Given the description of an element on the screen output the (x, y) to click on. 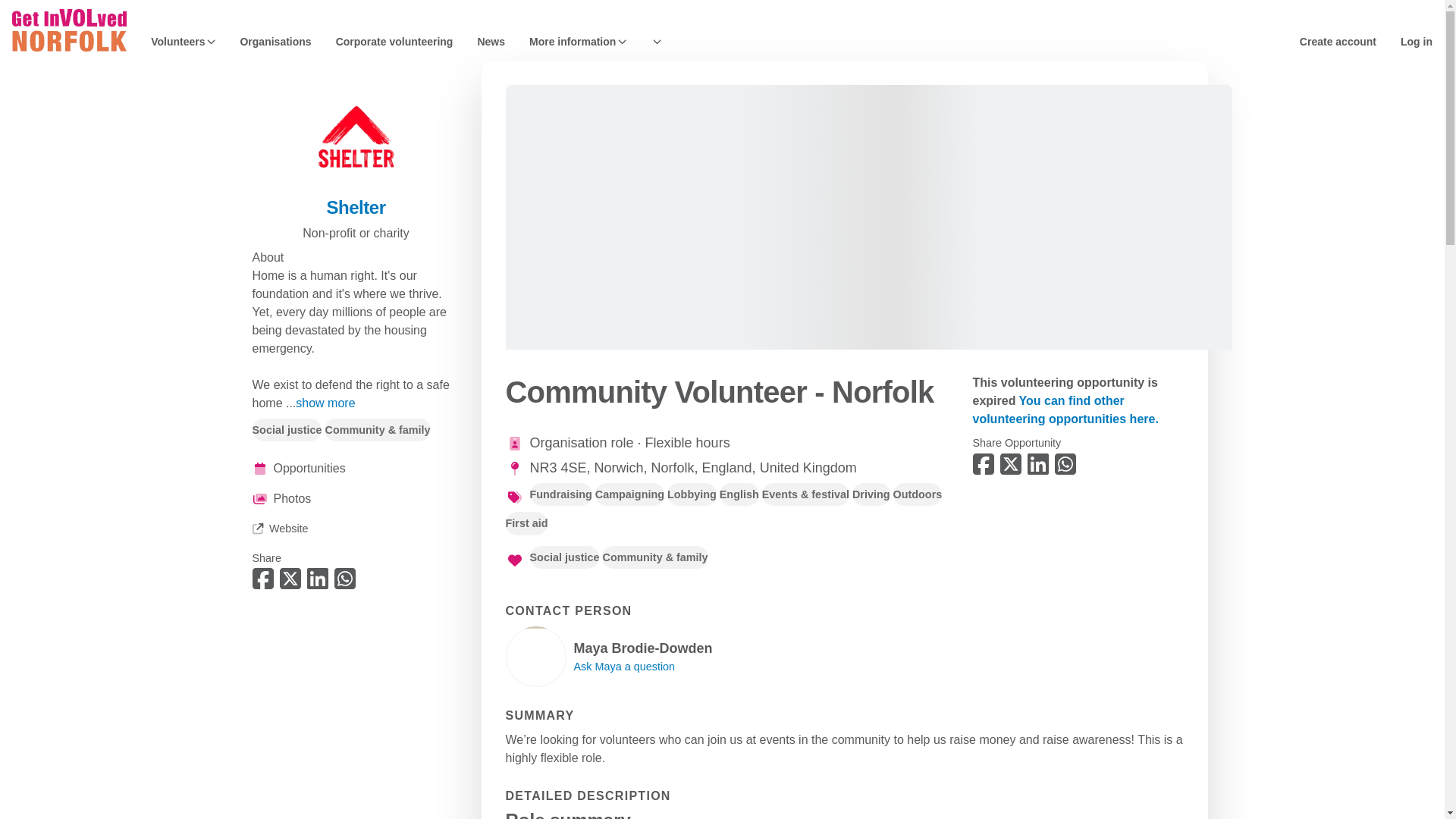
Create account (1337, 41)
Log in (1416, 41)
Organisations (275, 41)
Website (279, 528)
Photos (355, 498)
Volunteers (183, 41)
You can find other volunteering opportunities here. (1064, 409)
Shelter (355, 207)
News (491, 41)
show more (325, 402)
Corporate volunteering (394, 41)
More information (577, 41)
Opportunities (355, 468)
